Given the description of an element on the screen output the (x, y) to click on. 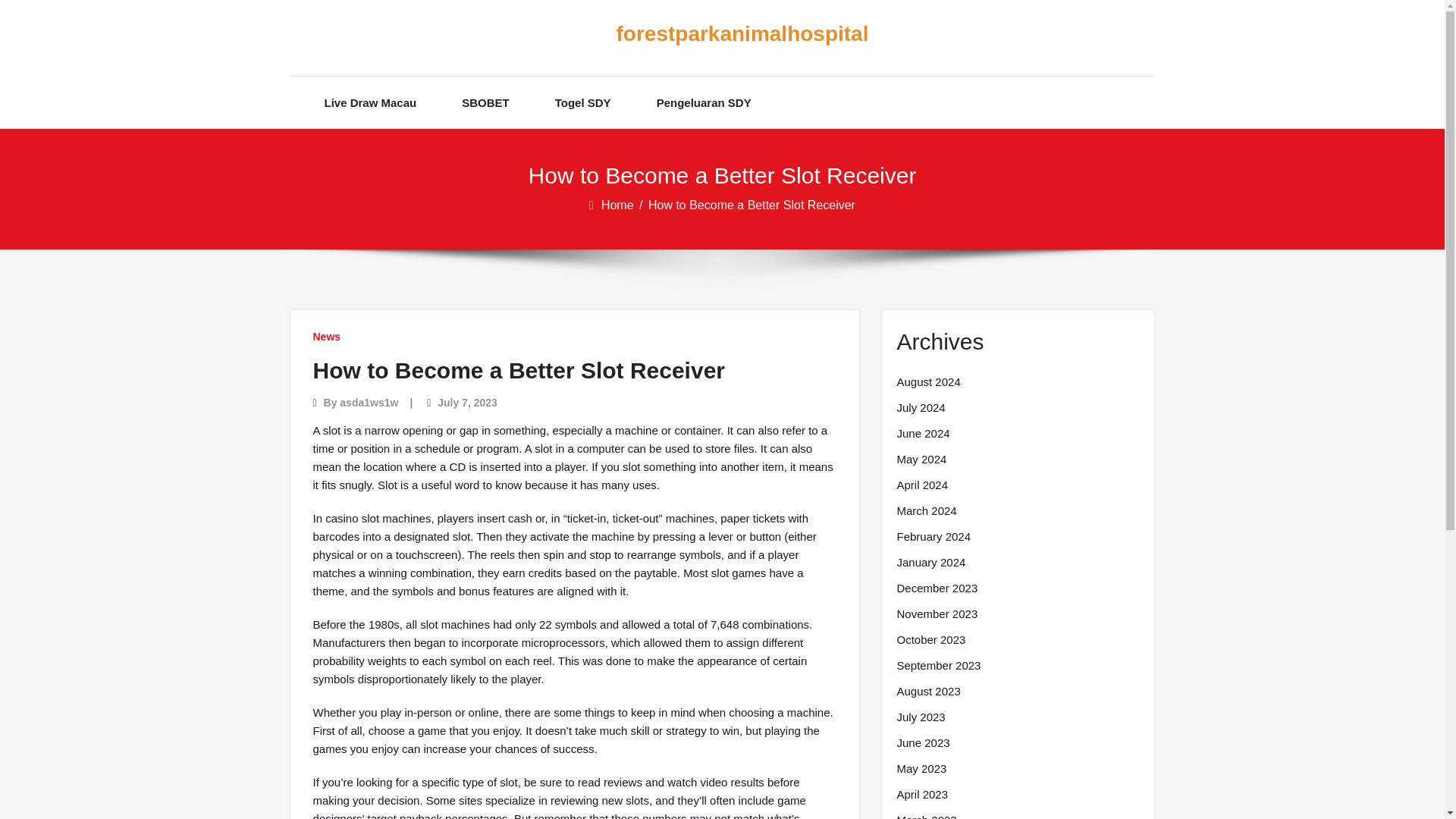
July 2024 (920, 407)
September 2023 (937, 665)
January 2024 (930, 562)
News (326, 336)
May 2023 (921, 769)
June 2023 (922, 742)
Togel SDY (582, 102)
June 2024 (922, 434)
February 2024 (933, 536)
July 7, 2023 (467, 402)
